Given the description of an element on the screen output the (x, y) to click on. 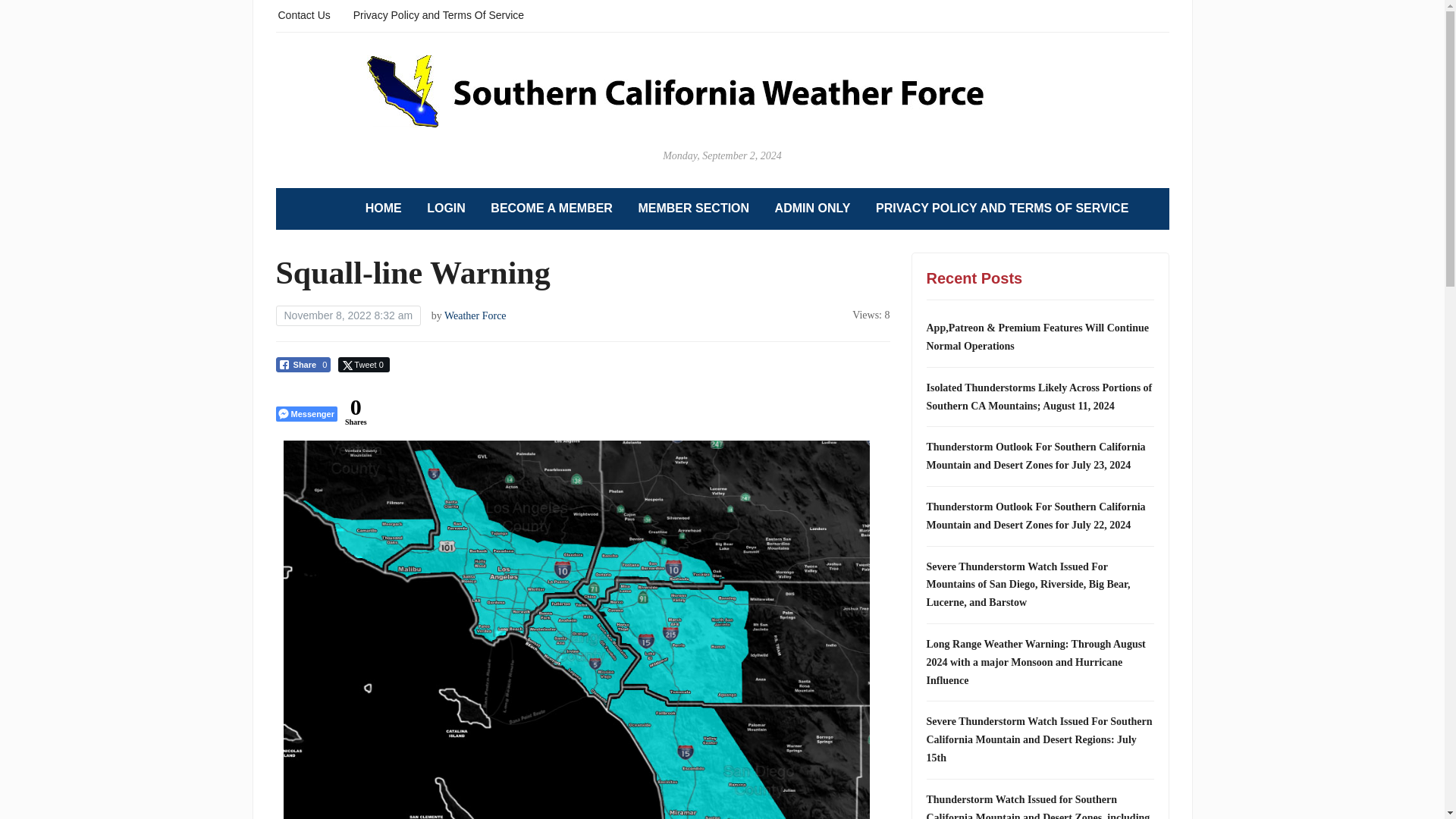
Messenger (306, 413)
MEMBER SECTION (693, 209)
Privacy Policy and Terms Of Service (438, 14)
HOME (383, 209)
Share 0 (303, 364)
PRIVACY POLICY AND TERMS OF SERVICE (1002, 209)
Contact Us (304, 14)
